Given the description of an element on the screen output the (x, y) to click on. 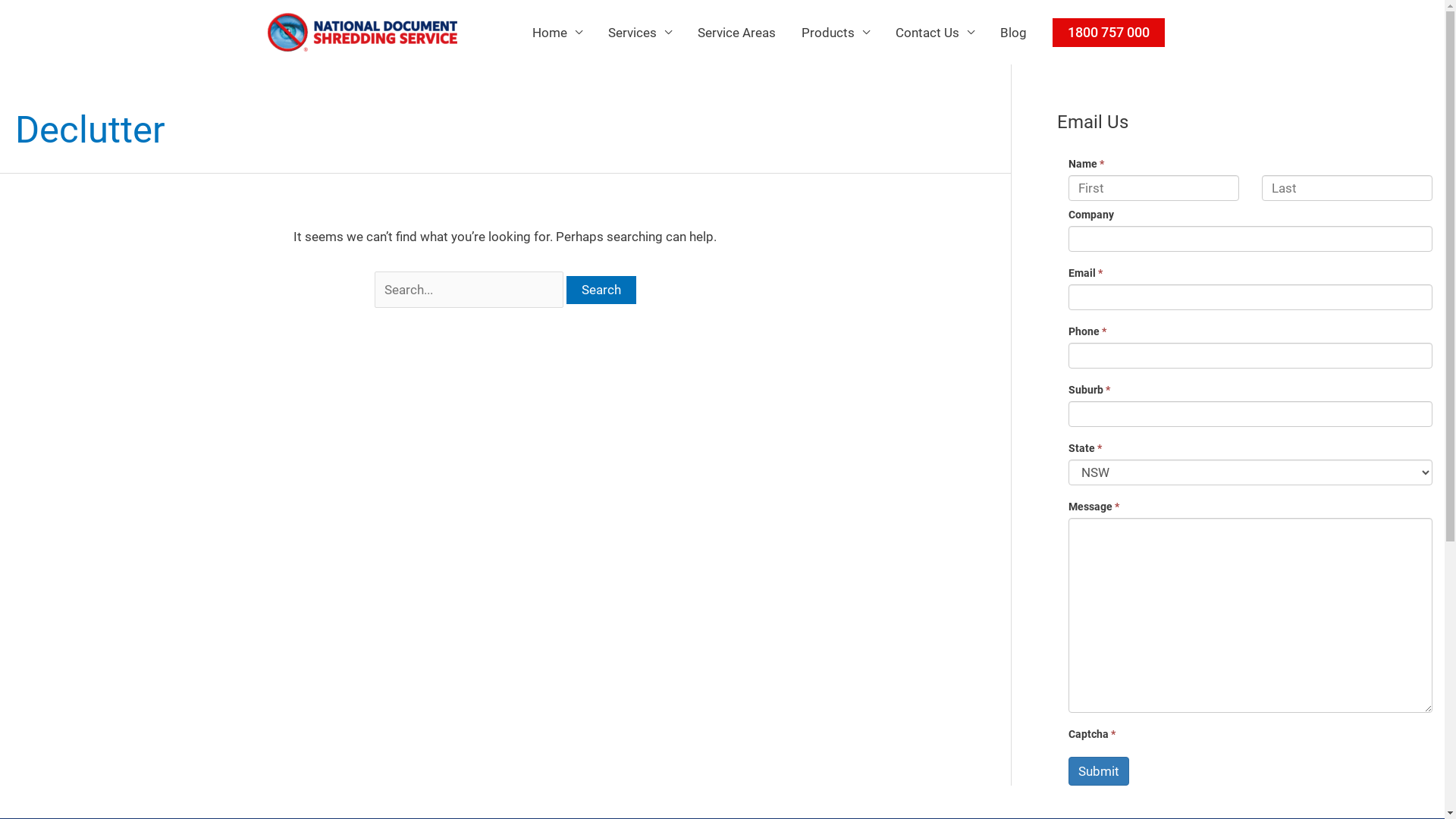
Services Element type: text (639, 32)
Service Areas Element type: text (735, 32)
Submit Element type: text (1097, 770)
1800 757 000 Element type: text (1108, 32)
Products Element type: text (835, 32)
Home Element type: text (556, 32)
Contact Us Element type: text (934, 32)
Blog Element type: text (1013, 32)
Search Element type: text (601, 290)
